Given the description of an element on the screen output the (x, y) to click on. 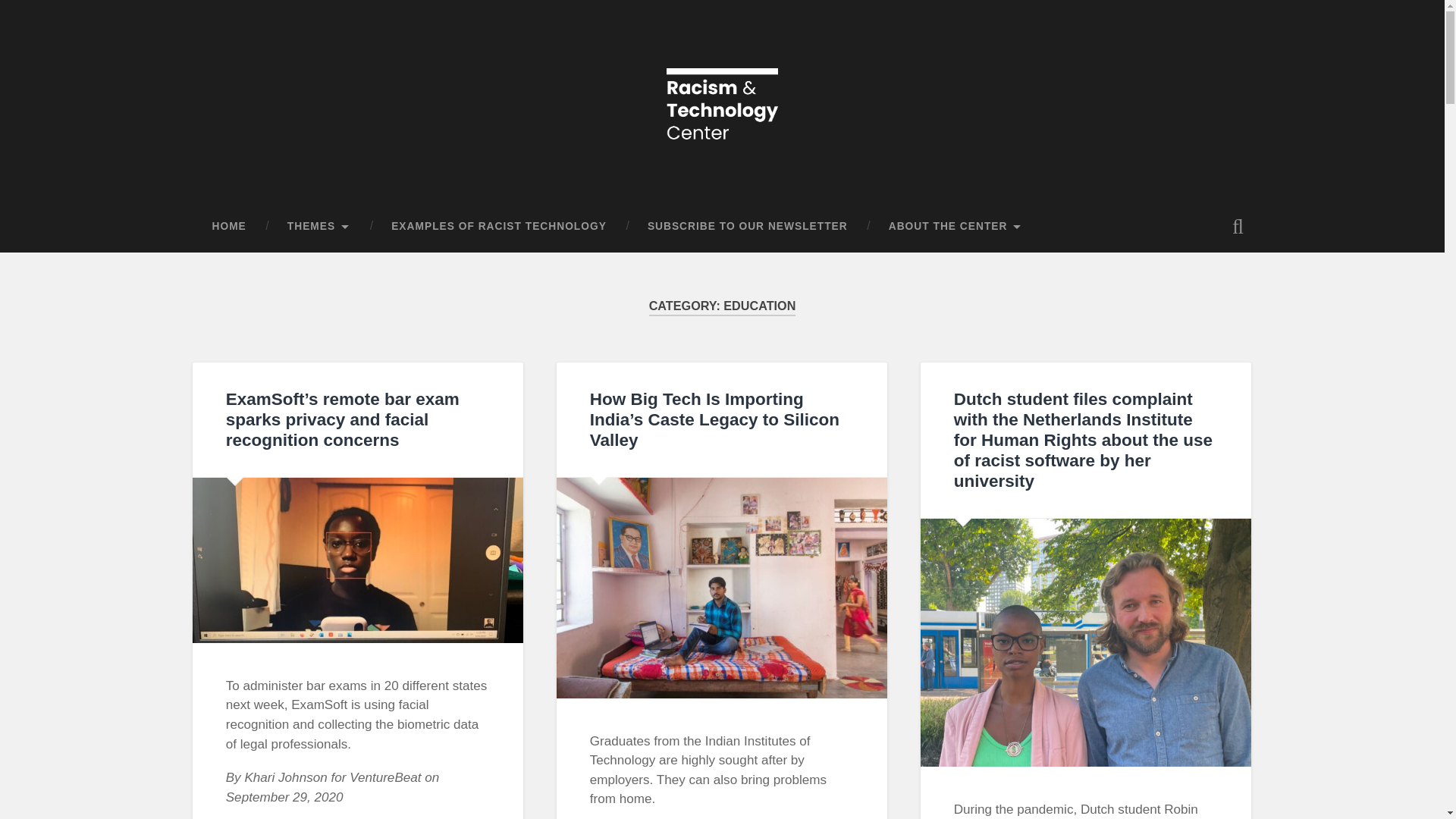
Open Search (1237, 226)
Home (721, 139)
EXAMPLES OF RACIST TECHNOLOGY (499, 226)
ABOUT THE CENTER (955, 226)
SUBSCRIBE TO OUR NEWSLETTER (747, 226)
THEMES (318, 226)
HOME (228, 226)
